Given the description of an element on the screen output the (x, y) to click on. 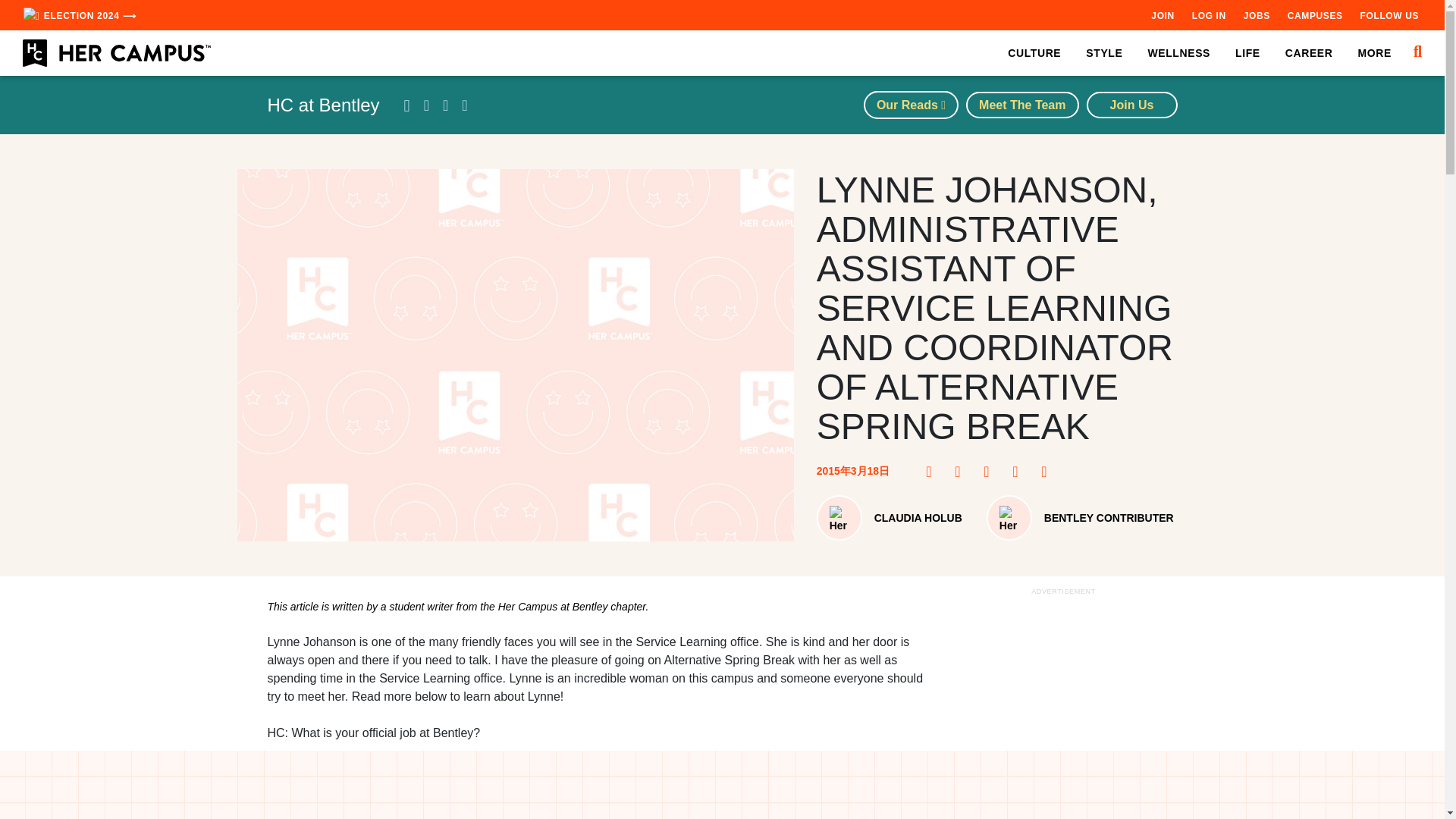
Twitter (991, 471)
Pinterest (962, 471)
JOIN (1162, 15)
LOG IN (1208, 15)
Email (1049, 471)
CAMPUSES (1314, 15)
JOBS (1256, 15)
Facebook (933, 471)
LinkedIn (1019, 471)
